Given the description of an element on the screen output the (x, y) to click on. 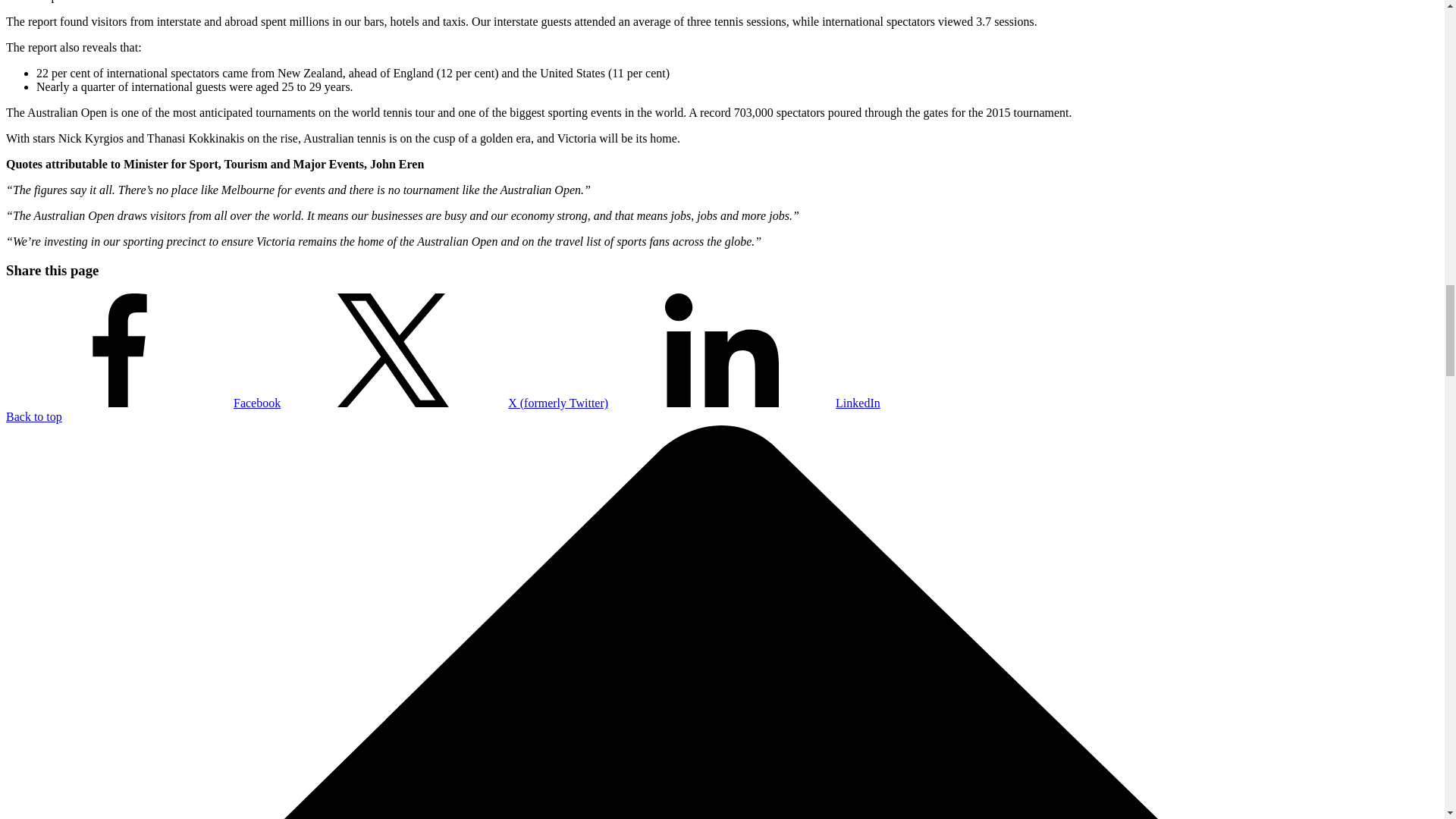
Facebook (143, 402)
LinkedIn (744, 402)
